Given the description of an element on the screen output the (x, y) to click on. 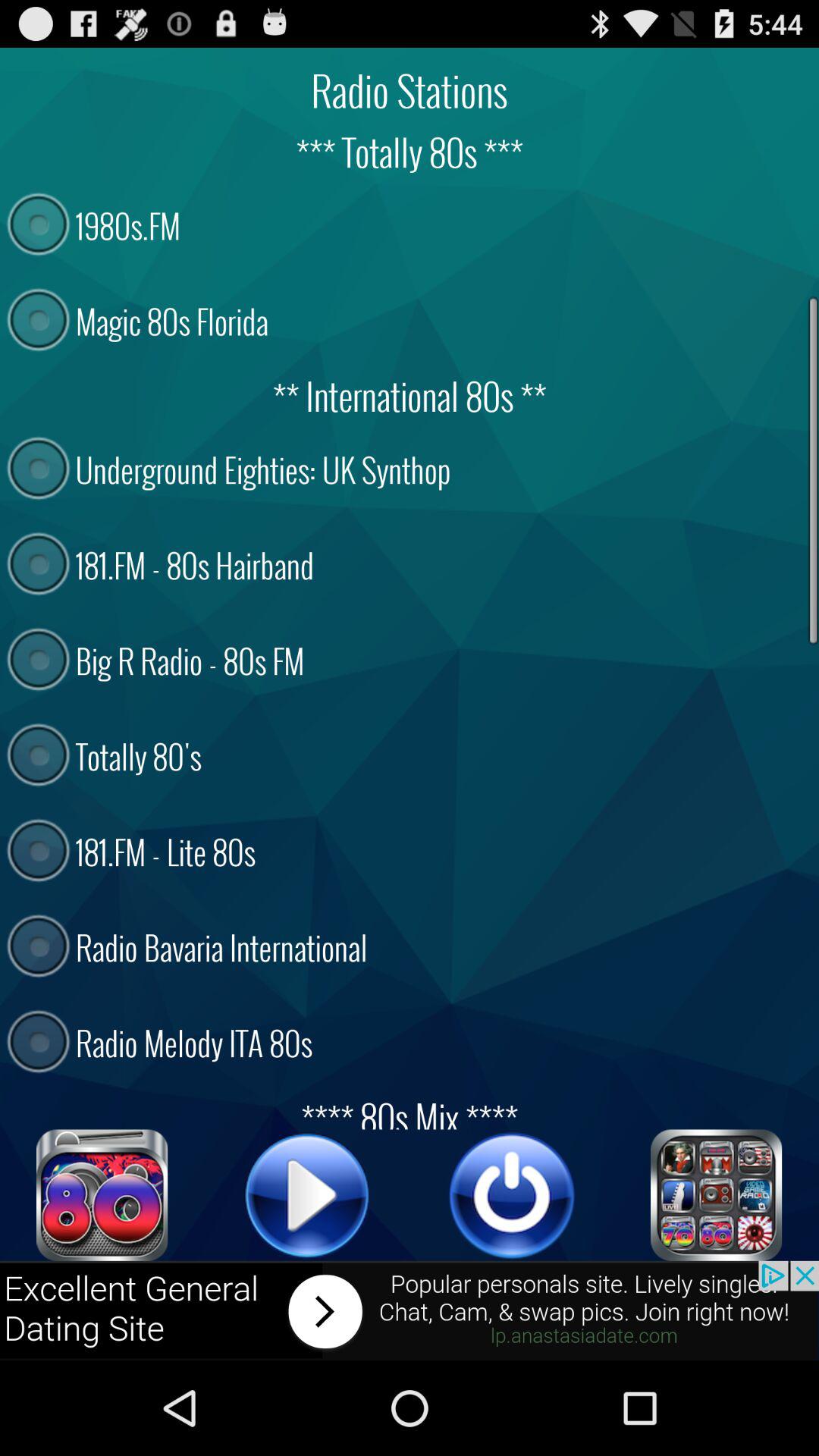
link to 80 (102, 1194)
